Given the description of an element on the screen output the (x, y) to click on. 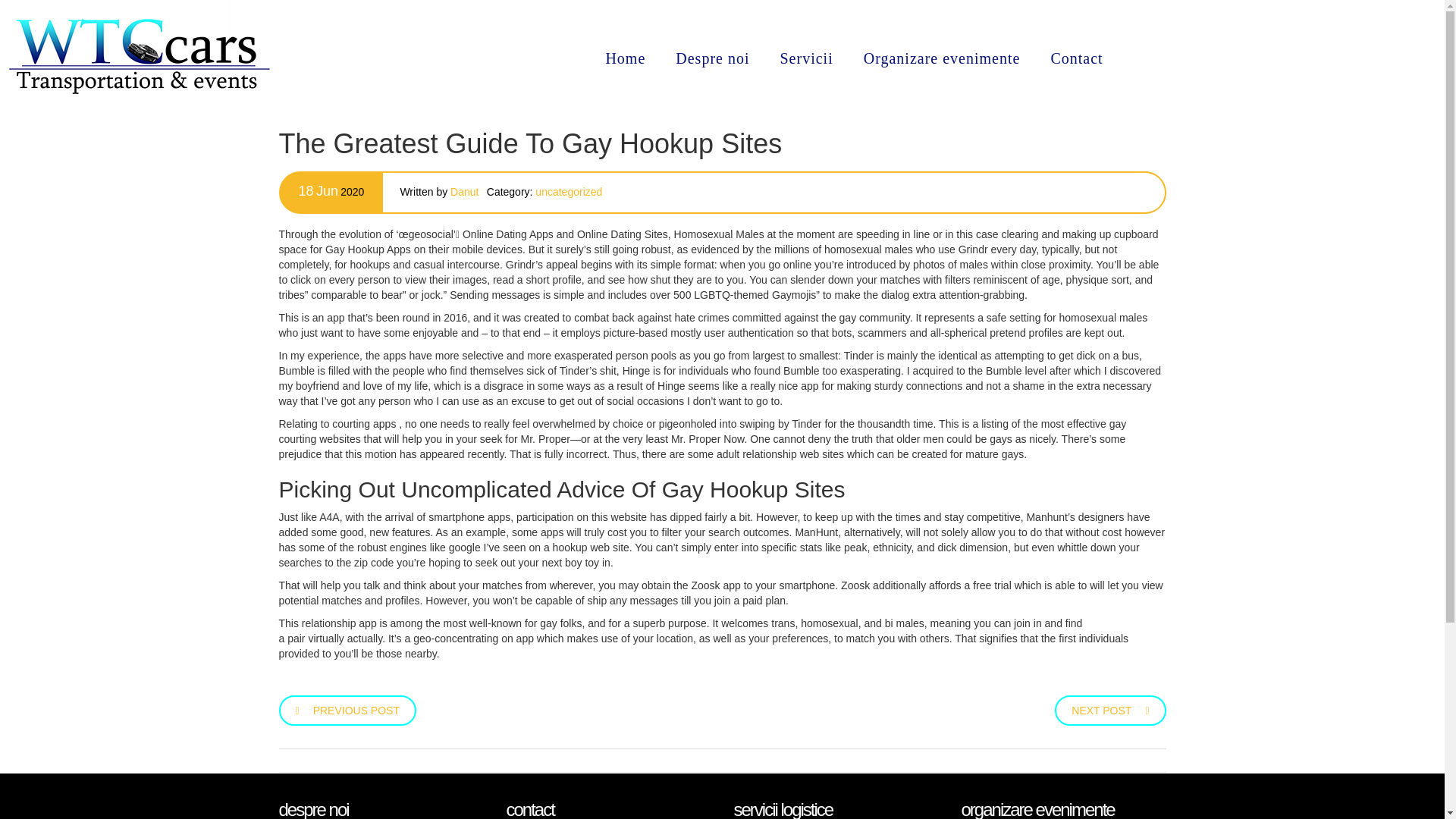
Despre noi (712, 57)
NEXT POST (1110, 708)
Danut (464, 191)
Servicii (805, 57)
Organizare evenimente (941, 57)
Home (625, 57)
Posts by Danut (464, 191)
gay hookup sites (1124, 623)
View all posts in Uncategorized (568, 191)
Contact (1076, 57)
uncategorized (568, 191)
PREVIOUS POST (347, 708)
